Given the description of an element on the screen output the (x, y) to click on. 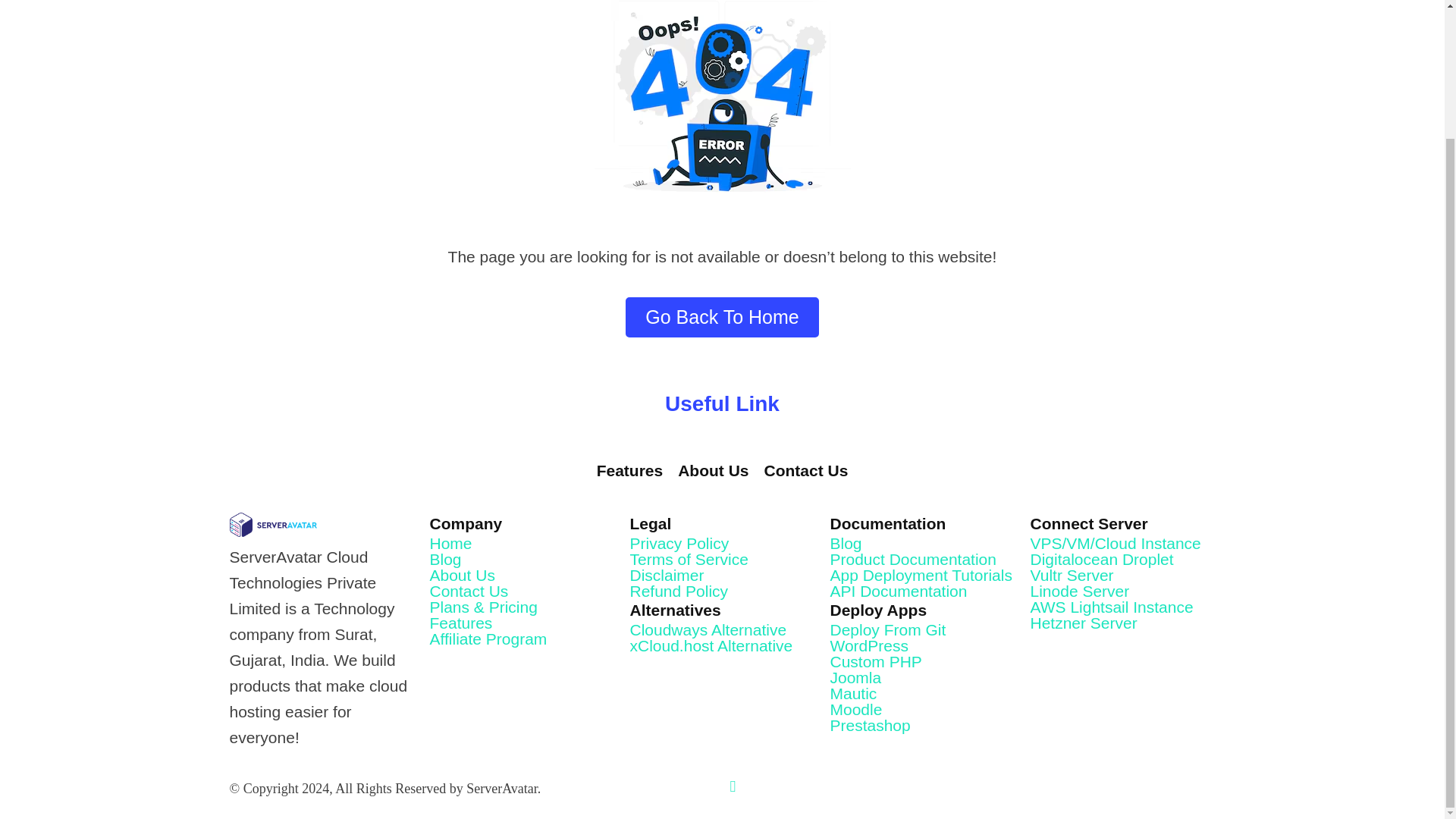
About Us (713, 470)
Go Back To Home (722, 317)
Features (629, 470)
Contact Us (806, 470)
